Given the description of an element on the screen output the (x, y) to click on. 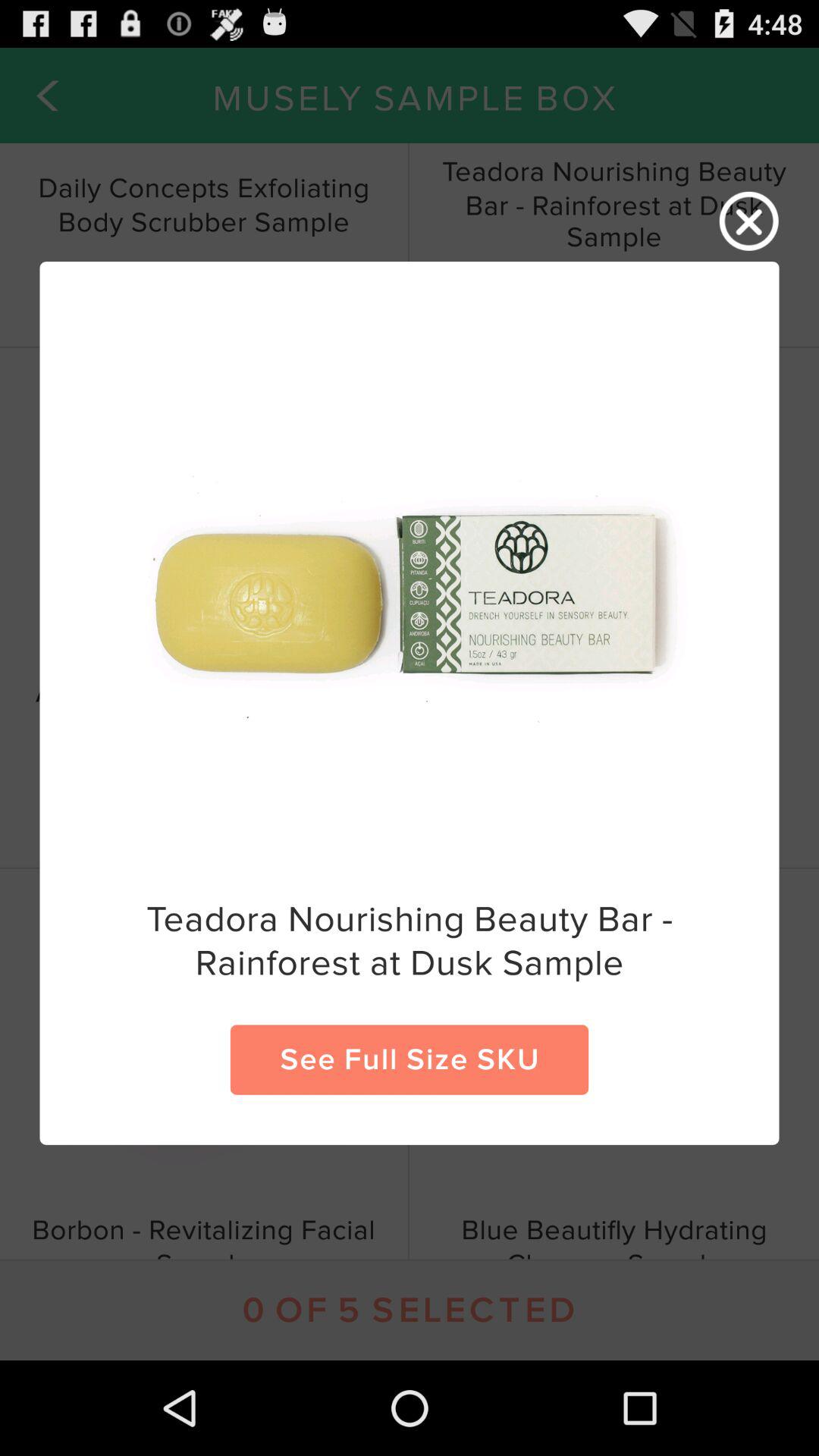
close window (749, 221)
